Given the description of an element on the screen output the (x, y) to click on. 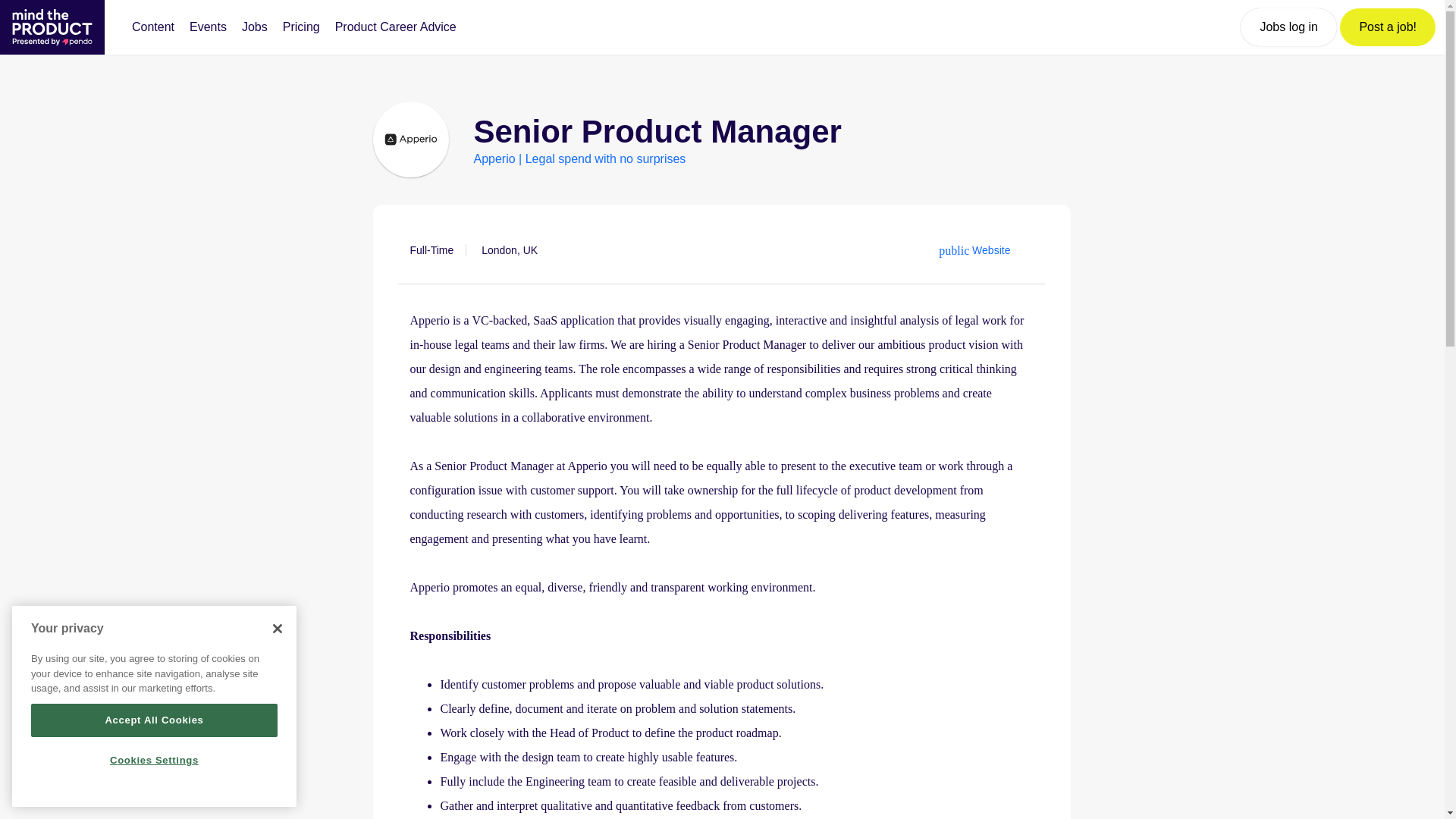
Events (208, 27)
Events (208, 27)
Pricing (301, 27)
Content (153, 27)
Jobs log in (1288, 26)
Product Career Advice (395, 27)
Jobs (254, 27)
London, UK (509, 250)
Pricing (301, 27)
Product Career Advice (395, 27)
public Website (974, 250)
Post a job! (1387, 26)
Jobs (254, 27)
Content (153, 27)
